Given the description of an element on the screen output the (x, y) to click on. 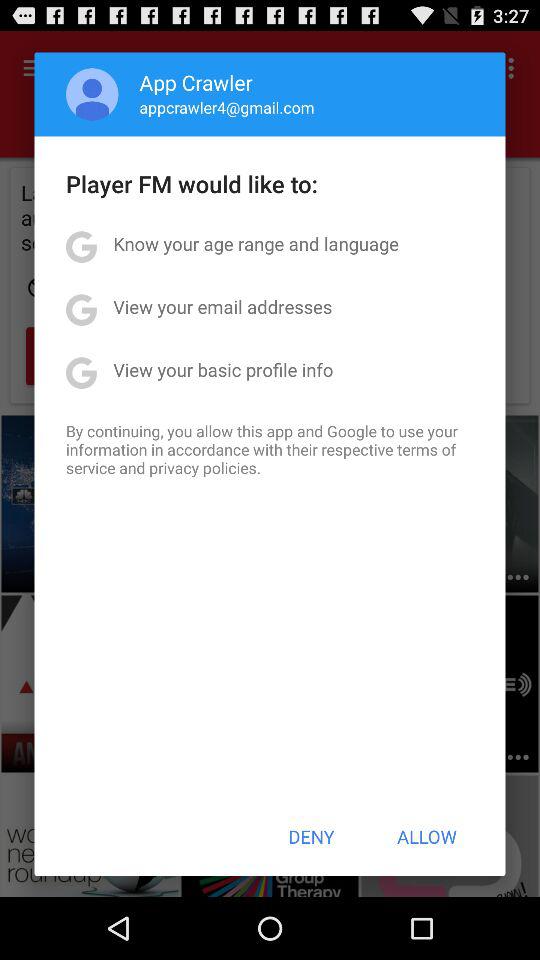
turn on the app crawler item (195, 82)
